Given the description of an element on the screen output the (x, y) to click on. 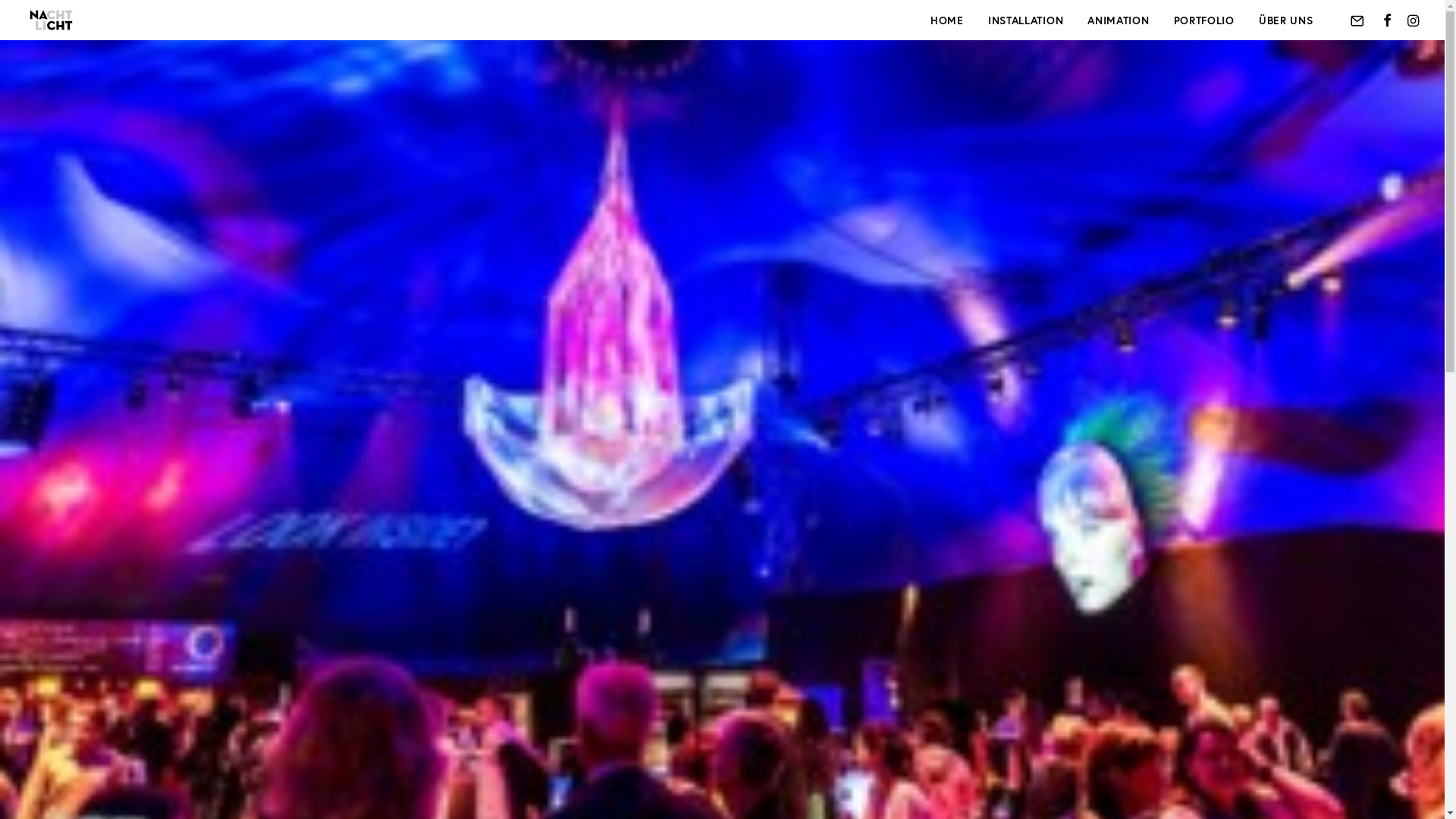
PORTFOLIO Element type: text (1204, 20)
HOME Element type: text (946, 20)
ANIMATION Element type: text (1117, 20)
INSTALLATION Element type: text (1025, 20)
